Given the description of an element on the screen output the (x, y) to click on. 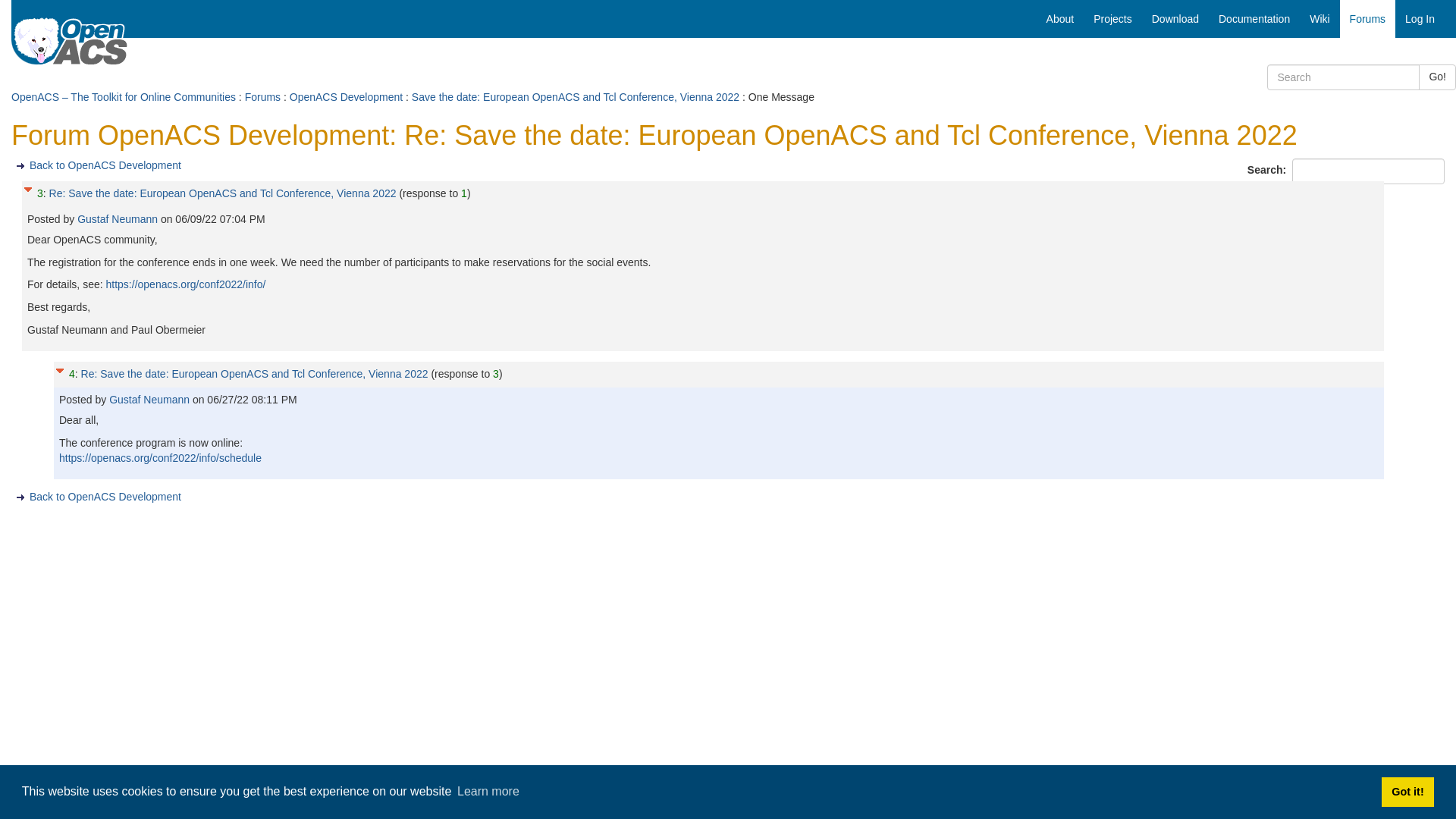
Back to OpenACS Development (104, 496)
Documentation (1254, 18)
Gustaf Neumann (150, 399)
OpenACS Development (346, 96)
Link to this post on a separate page (222, 193)
OpenACS and DotLRN Discussion Forums (1366, 18)
Download (1174, 18)
OpenACS Core, API and Package Documentation (1254, 18)
